Given the description of an element on the screen output the (x, y) to click on. 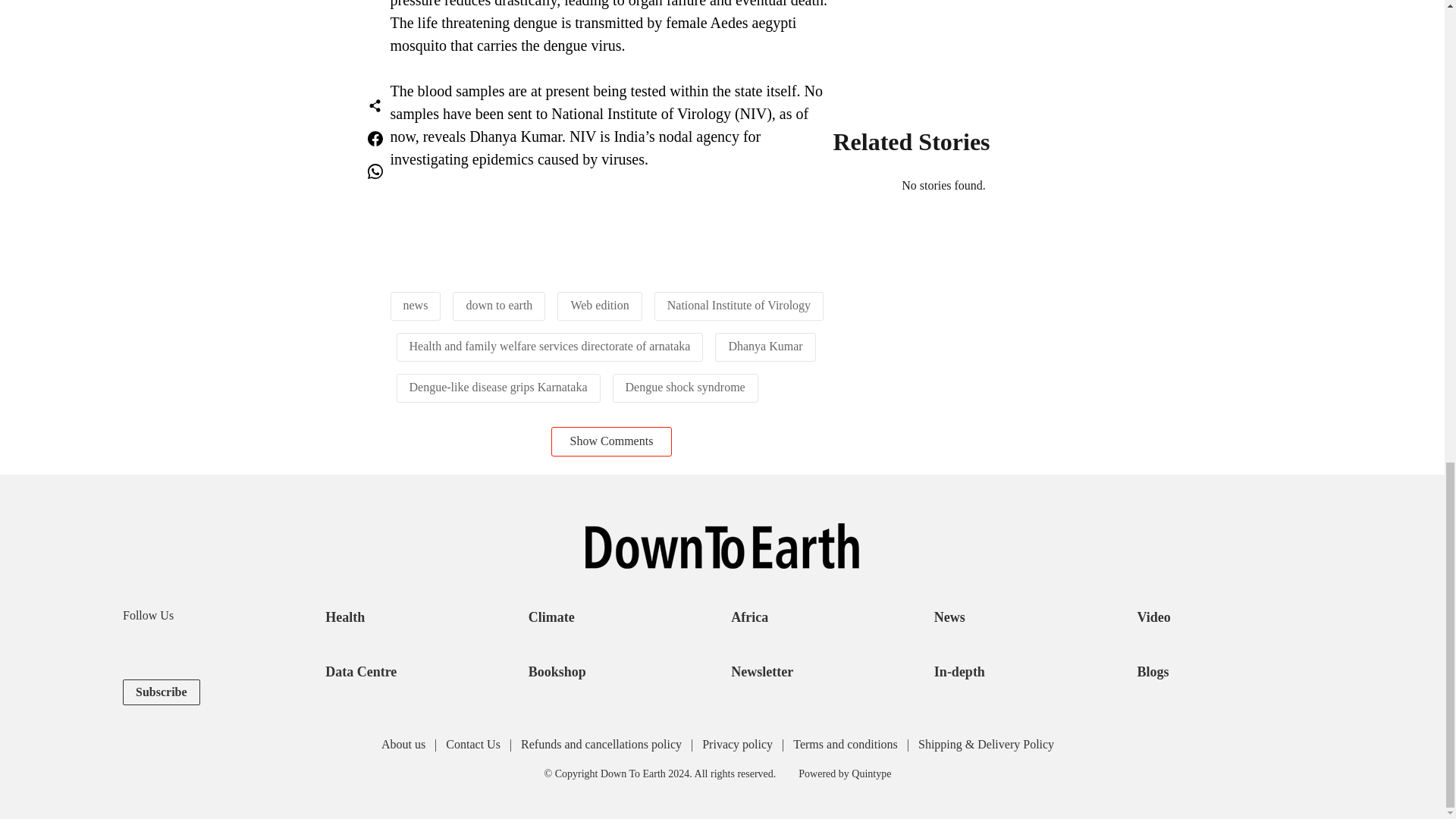
down to earth (498, 305)
Dhanya Kumar (765, 345)
Health and family welfare services directorate of arnataka (549, 345)
National Institute of Virology (738, 305)
news (415, 305)
Web edition (599, 305)
